Given the description of an element on the screen output the (x, y) to click on. 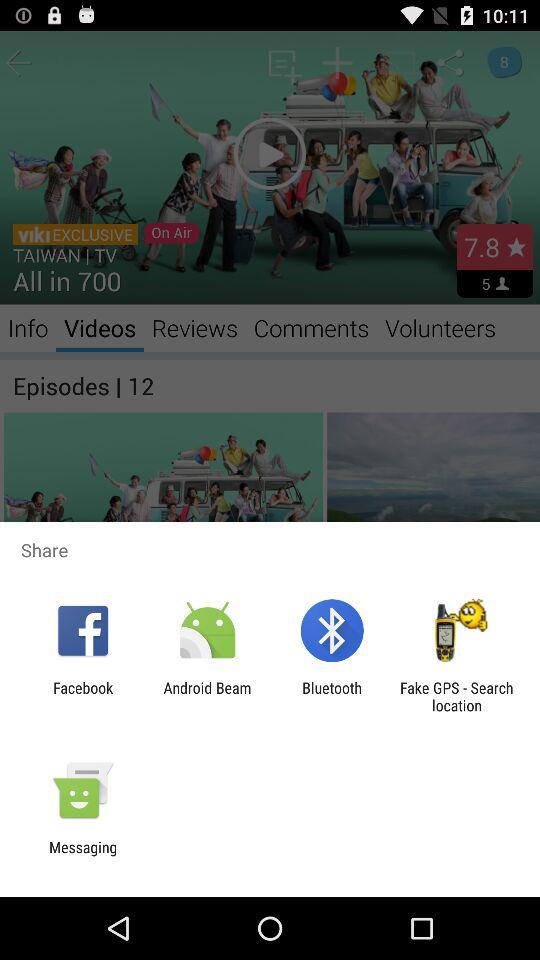
turn on the facebook icon (83, 696)
